Given the description of an element on the screen output the (x, y) to click on. 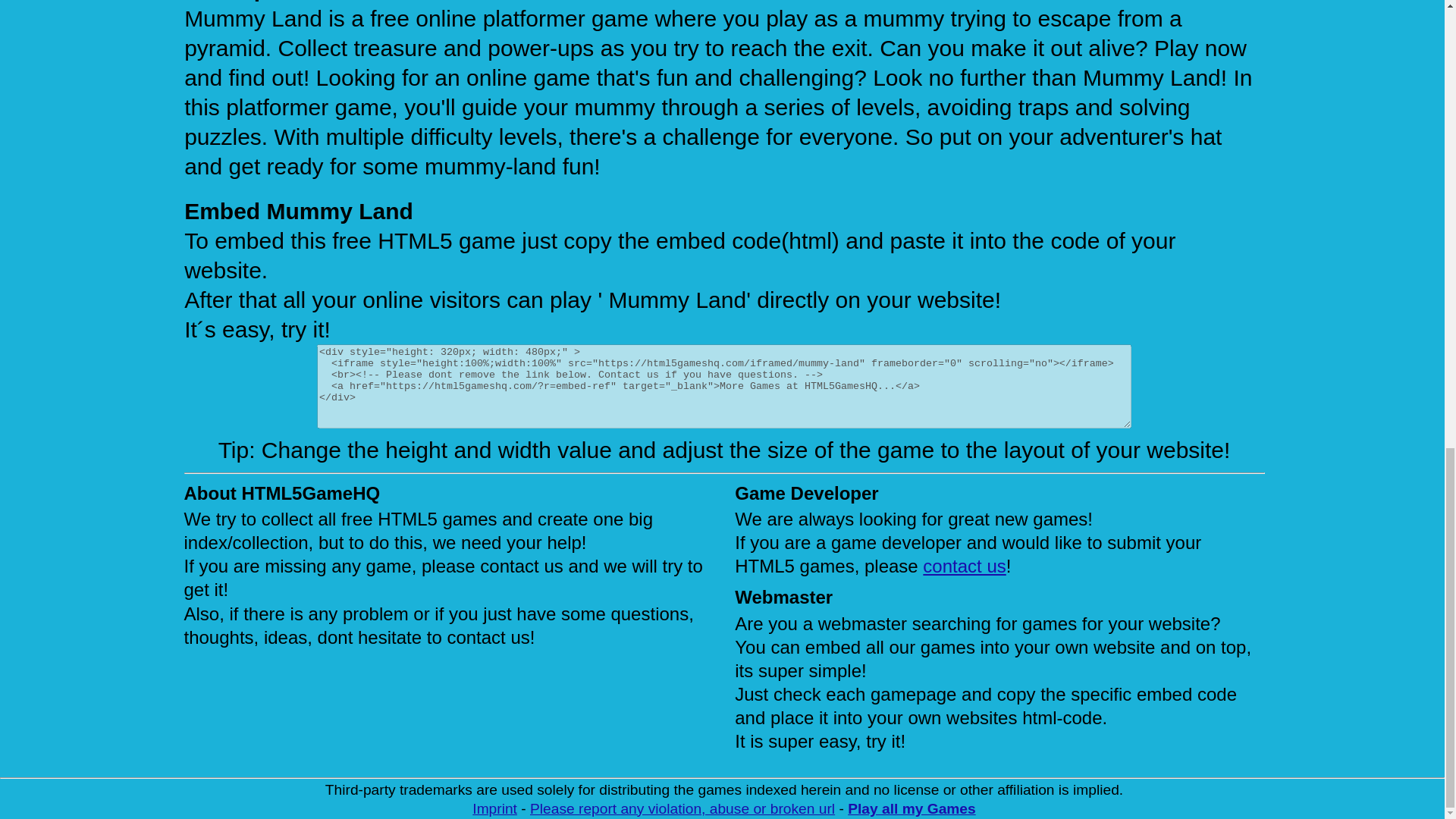
contact us (964, 566)
Imprint (493, 808)
Play all my Games (911, 808)
Please report any violation, abuse or broken url (681, 808)
